Given the description of an element on the screen output the (x, y) to click on. 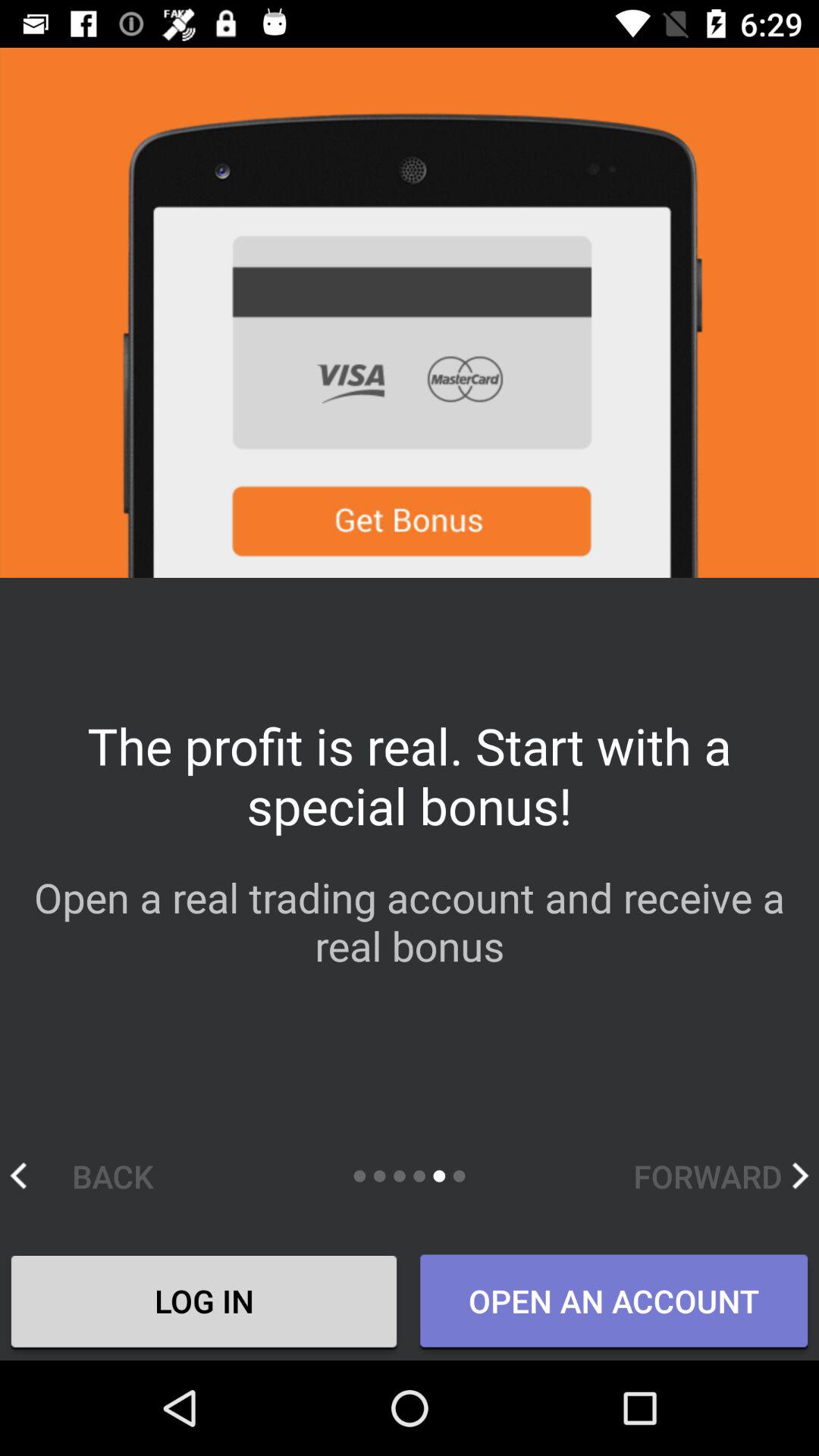
swipe to back icon (97, 1175)
